Given the description of an element on the screen output the (x, y) to click on. 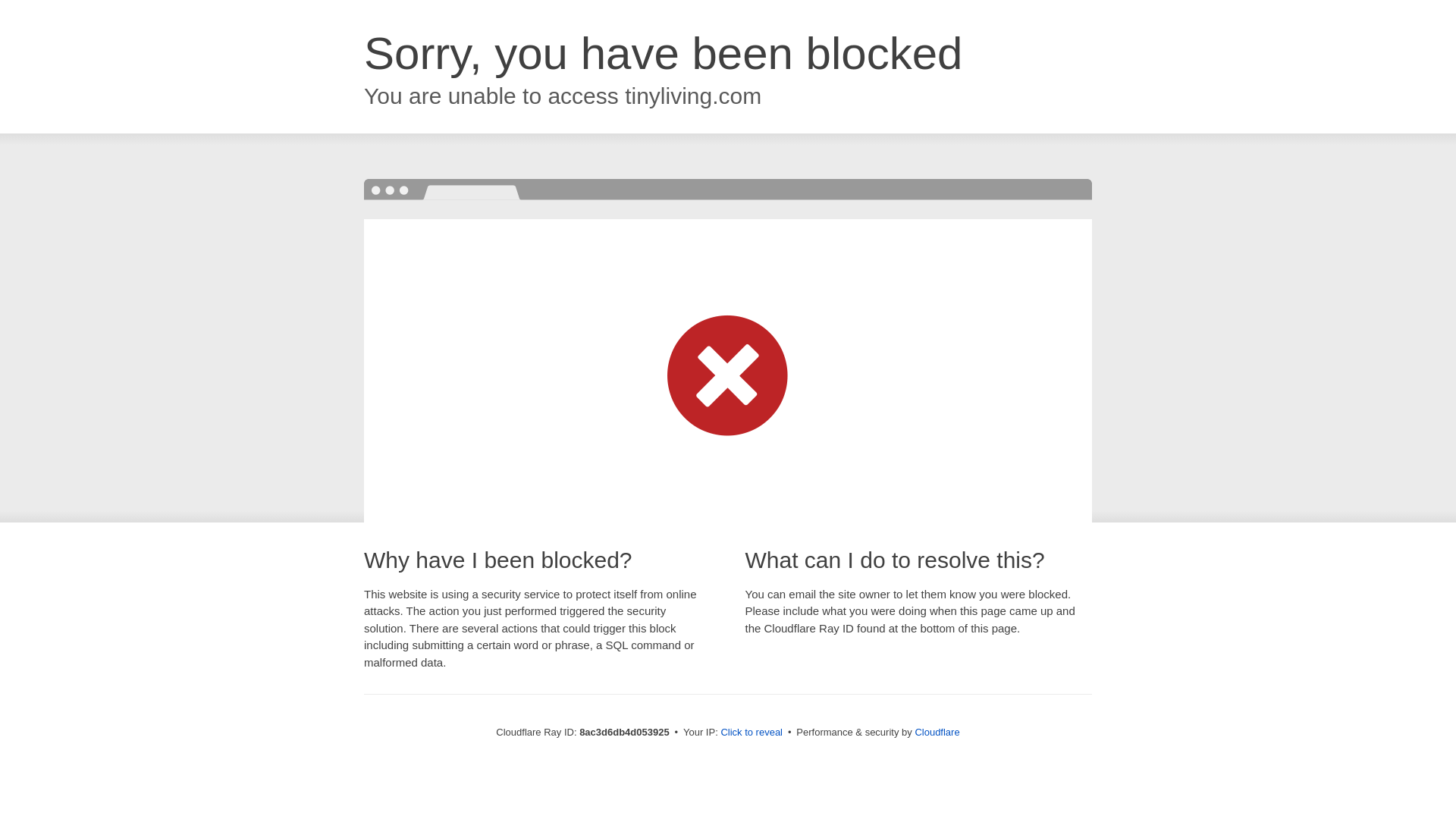
Click to reveal (751, 732)
Cloudflare (936, 731)
